Given the description of an element on the screen output the (x, y) to click on. 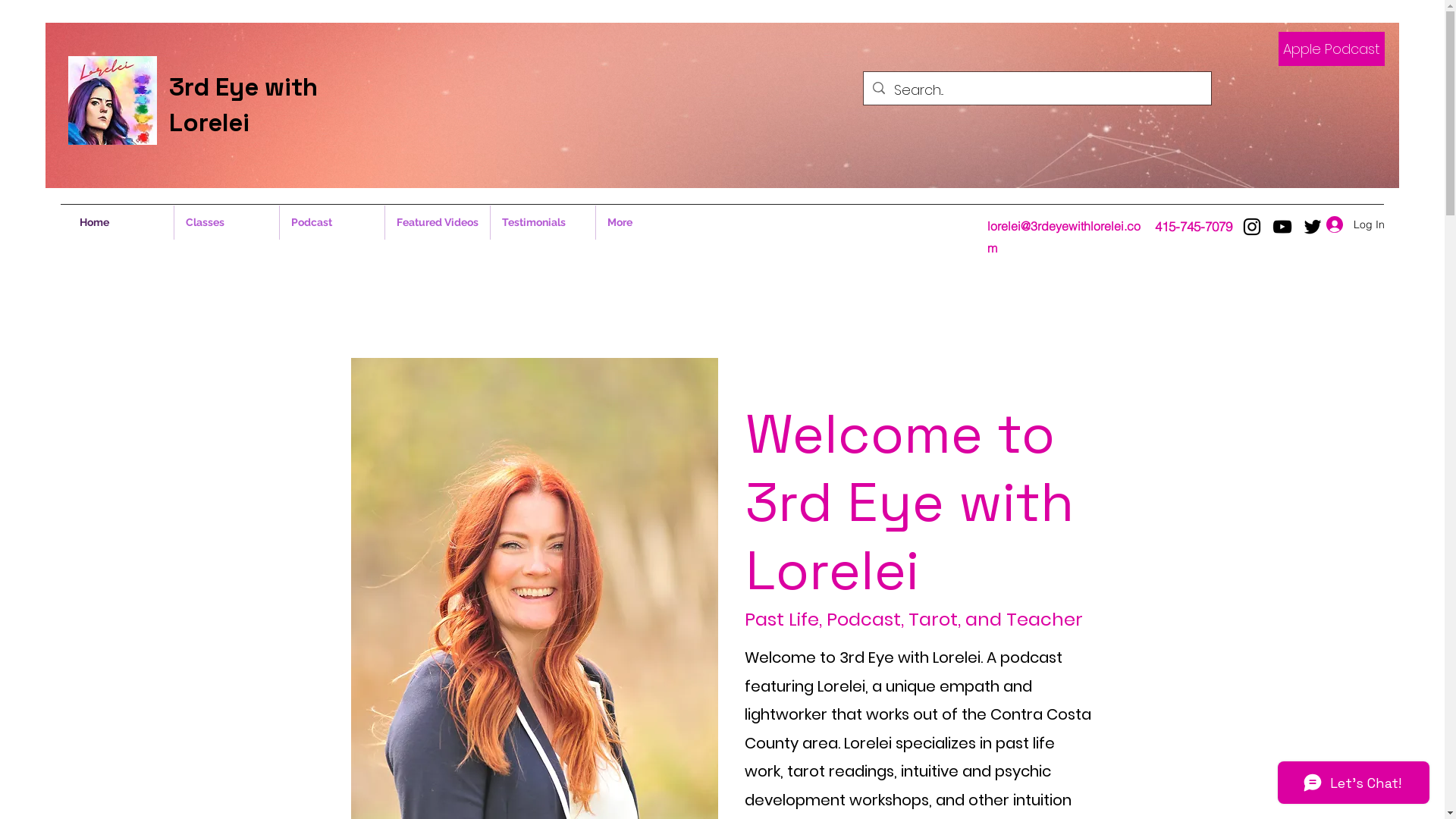
Log In Element type: text (1349, 224)
Testimonials Element type: text (541, 222)
lorelei@3rdeyewithlorelei.com Element type: text (1063, 236)
Featured Videos Element type: text (437, 222)
Apple Podcast Element type: text (1331, 48)
Podcast Element type: text (331, 222)
Classes Element type: text (226, 222)
Home Element type: text (120, 222)
3rd Eye with Lorelei Element type: text (243, 104)
